Given the description of an element on the screen output the (x, y) to click on. 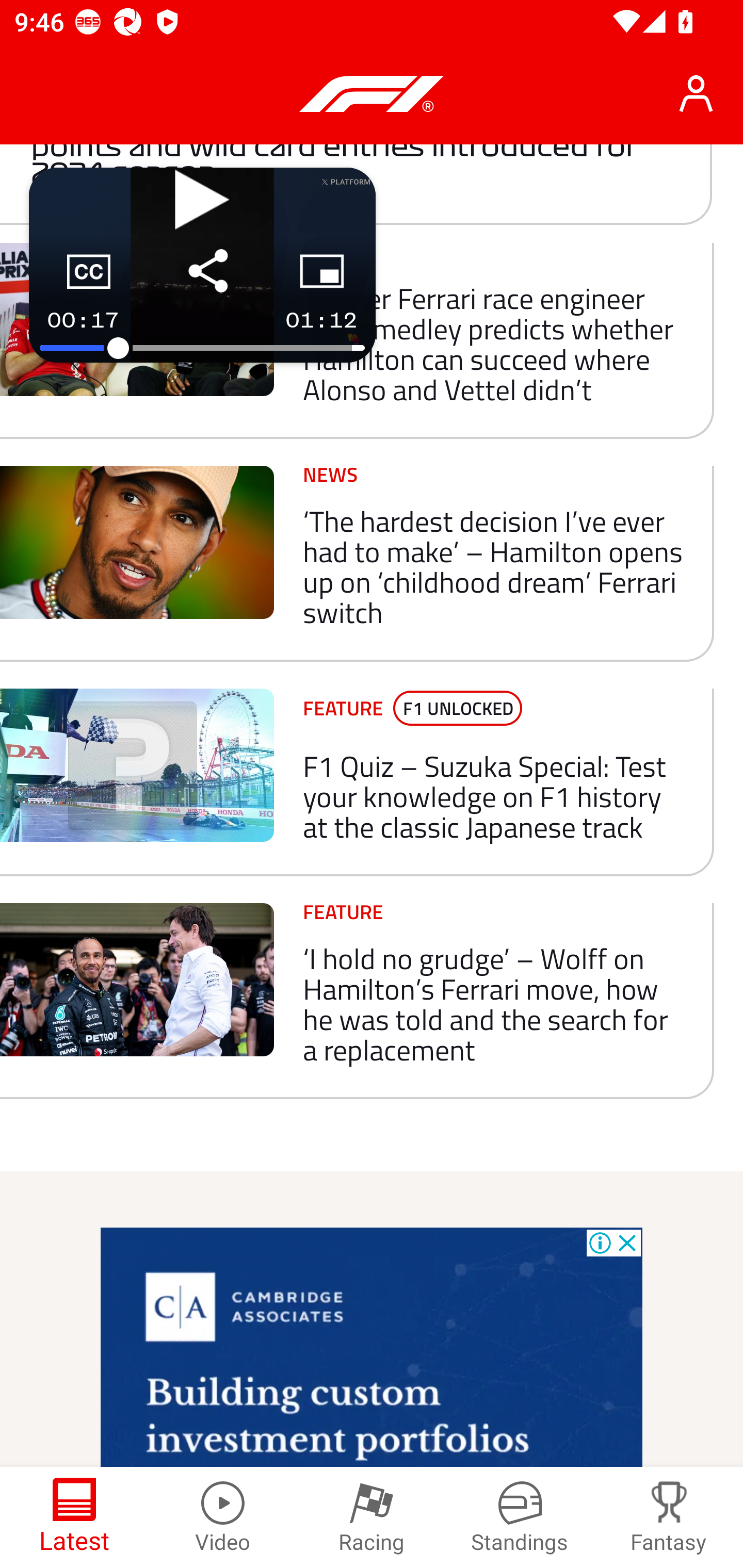
Video (222, 1517)
Racing (371, 1517)
Standings (519, 1517)
Fantasy (668, 1517)
